Given the description of an element on the screen output the (x, y) to click on. 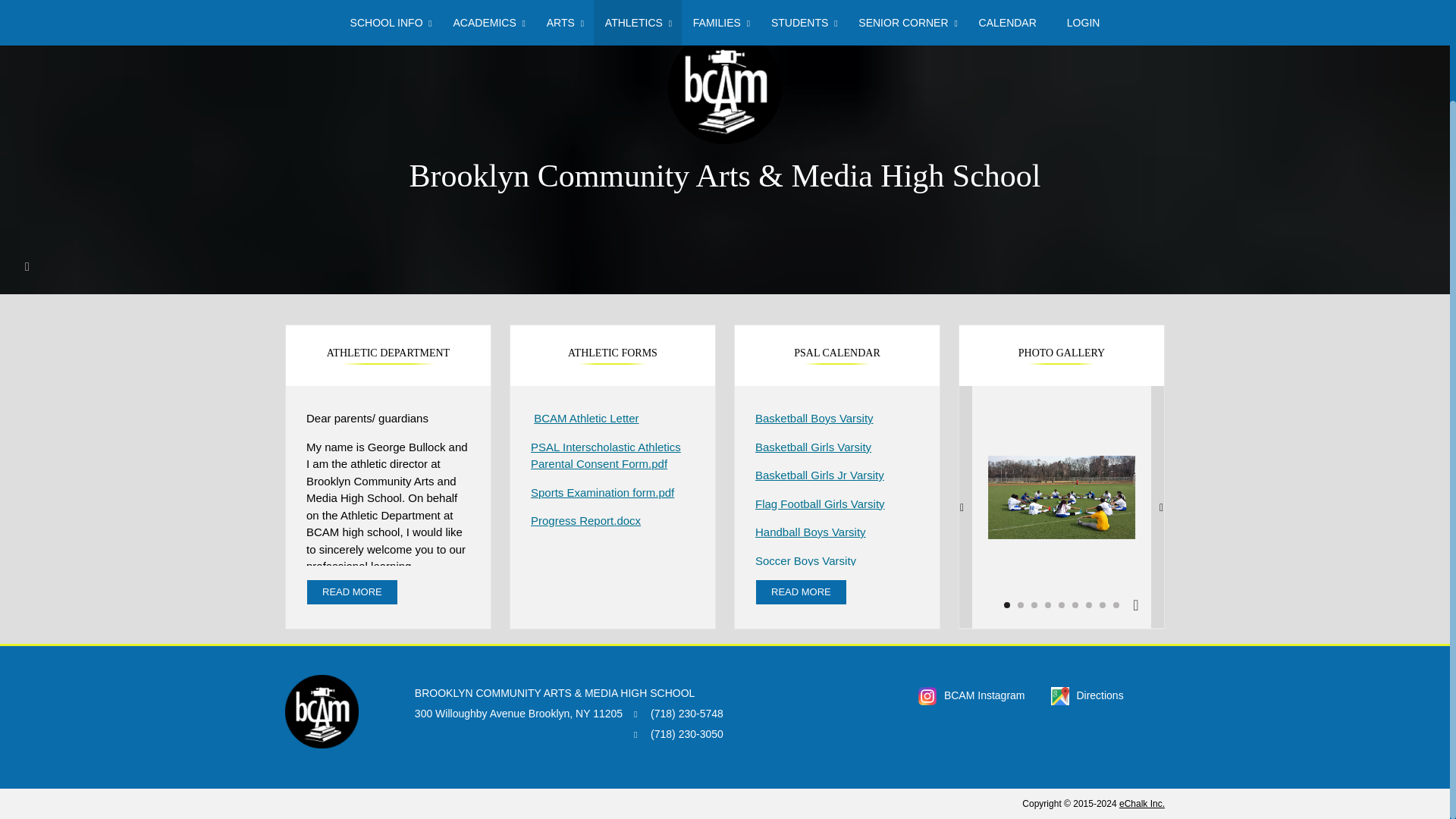
SoccerProgressReport.docx (585, 520)
SportsExaminationform.pdf (602, 491)
BCAMAthleticLetter 2.pdf (586, 418)
